Given the description of an element on the screen output the (x, y) to click on. 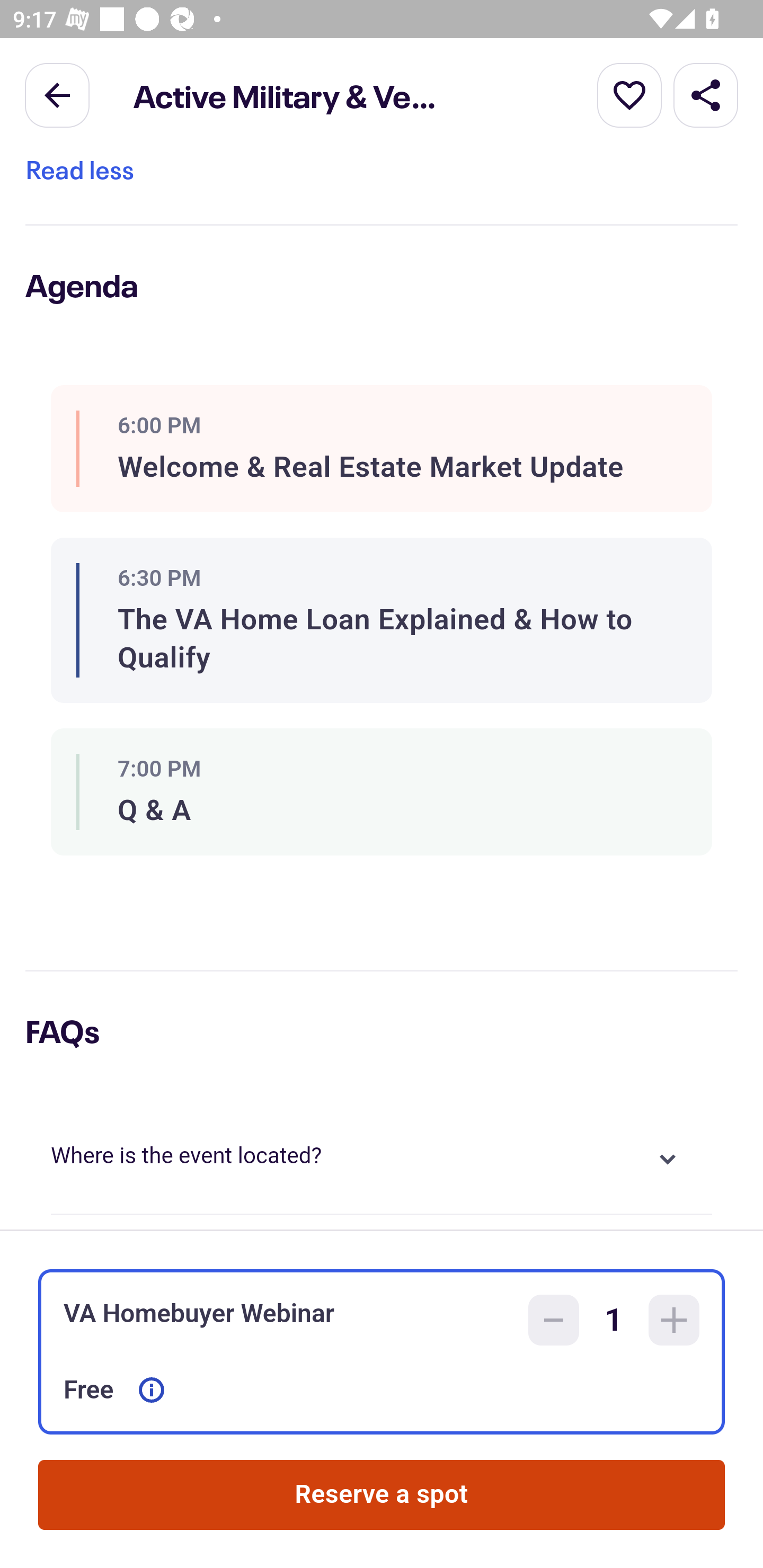
Back (57, 94)
More (629, 94)
Share (705, 94)
Read less (79, 172)
Where is the event located? (381, 1159)
Decrease (553, 1320)
Increase (673, 1320)
Show more information (151, 1389)
Reserve a spot (381, 1494)
